Given the description of an element on the screen output the (x, y) to click on. 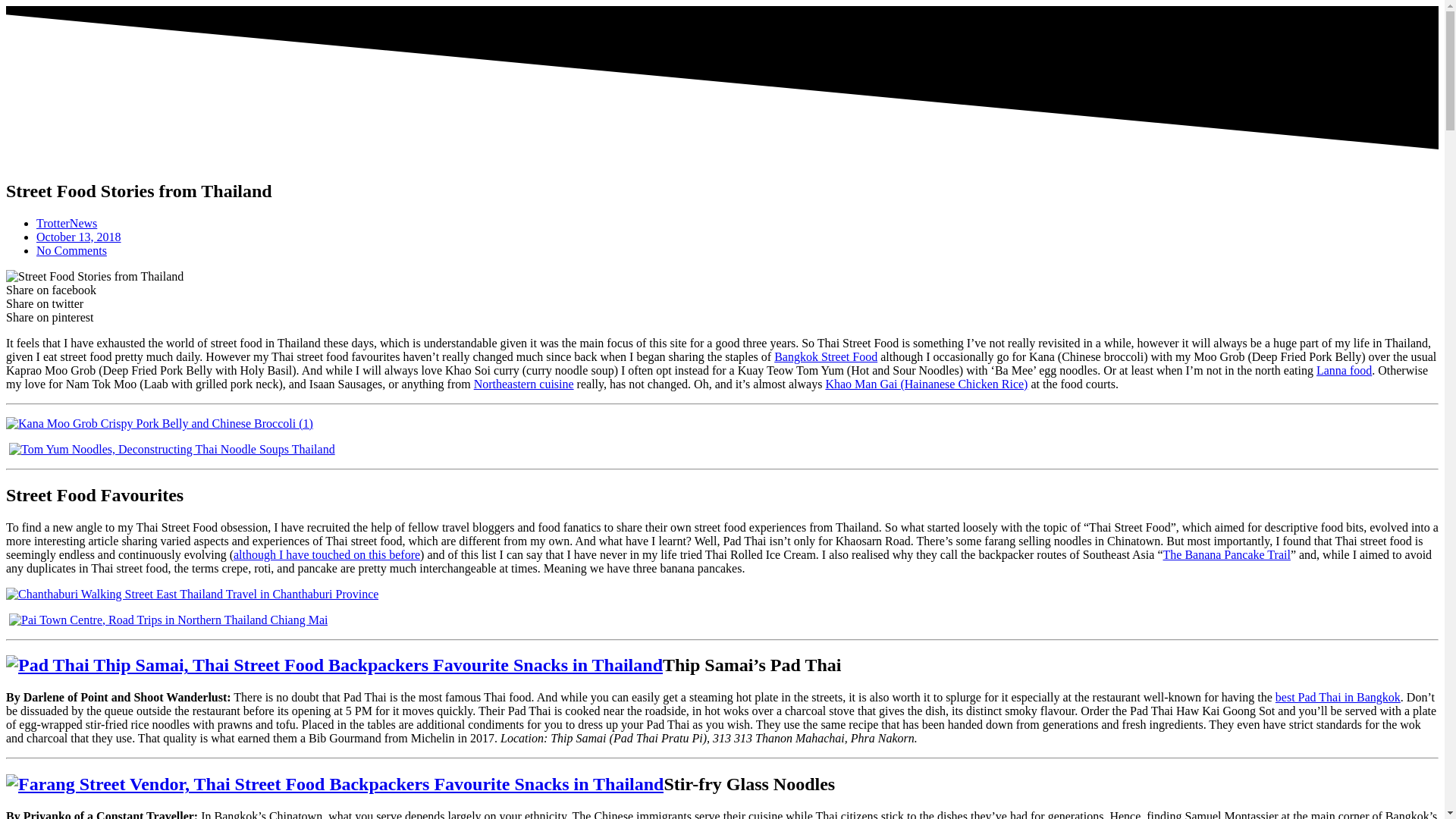
best Pad Thai in Bangkok (1337, 697)
No Comments (71, 250)
October 13, 2018 (78, 236)
Lanna food (1343, 369)
Bangkok Street Food (825, 356)
Street Food Stories from Thailand (94, 276)
The Banana Pancake Trail (1226, 554)
although I have touched on this before (326, 554)
TrotterNews (66, 223)
Northeastern cuisine (523, 383)
